Given the description of an element on the screen output the (x, y) to click on. 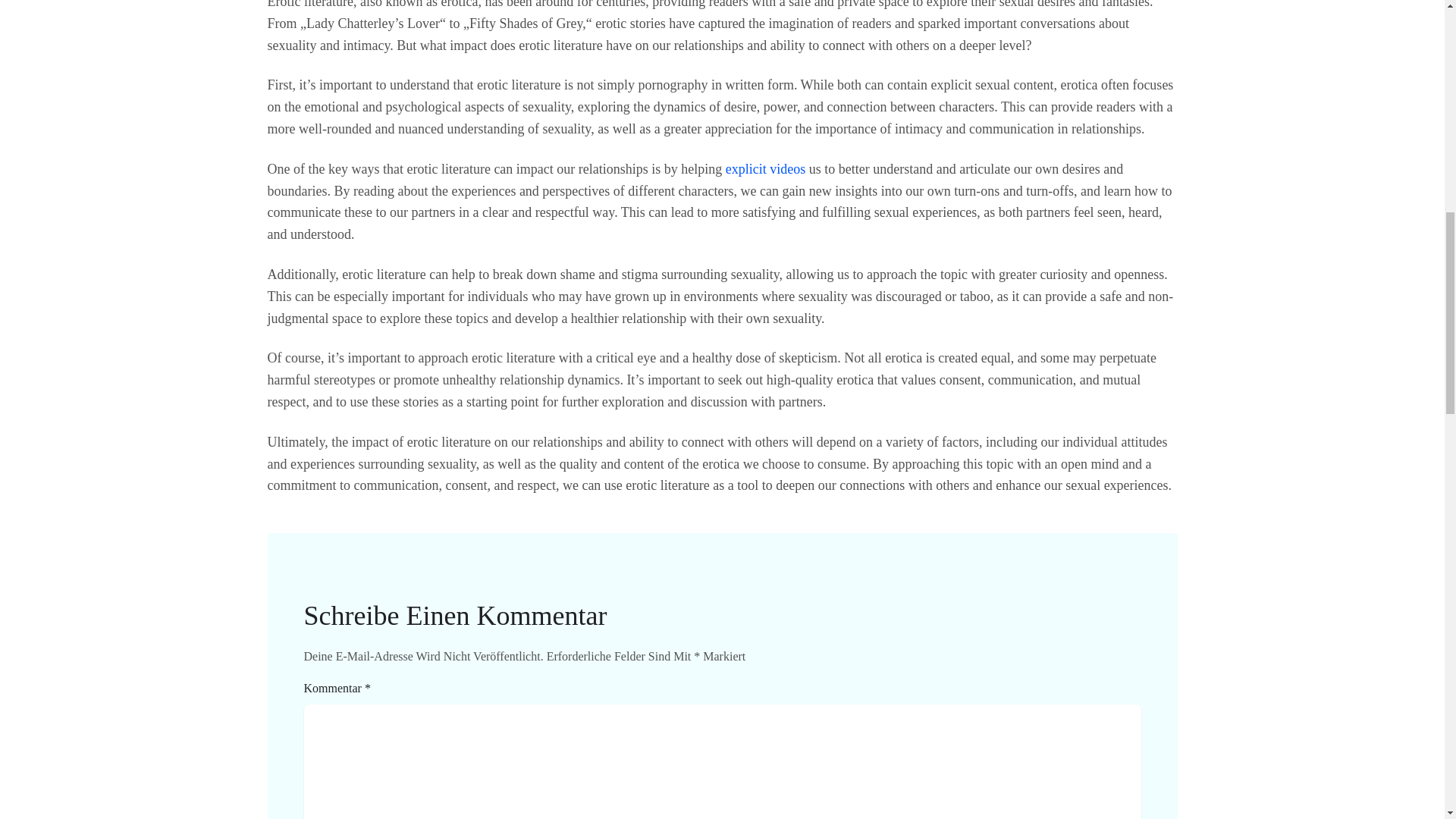
explicit videos (765, 168)
explicit videos (765, 168)
